Given the description of an element on the screen output the (x, y) to click on. 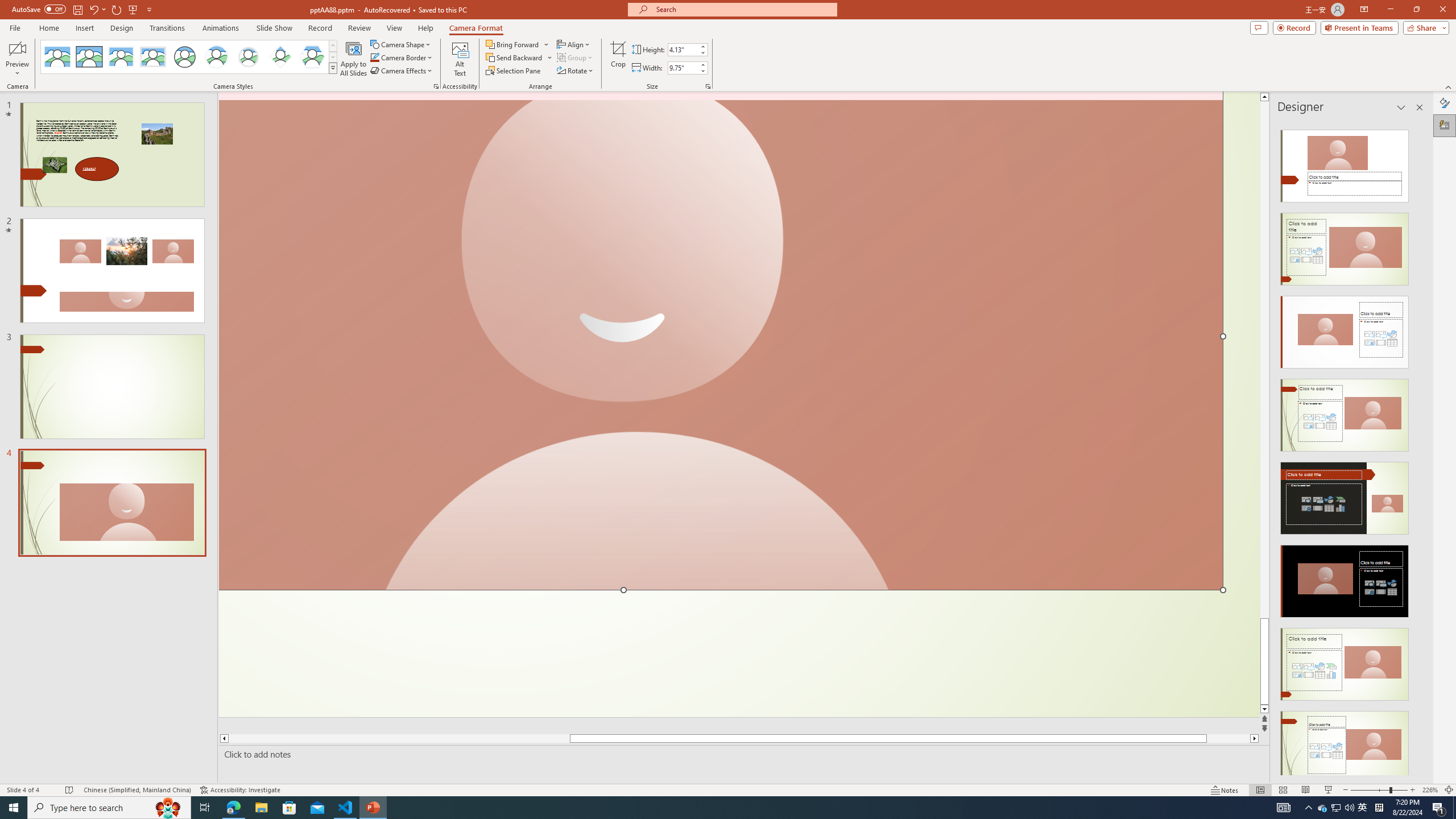
Size and Position... (707, 85)
Rotate (575, 69)
Simple Frame Rectangle (88, 56)
Camera Shape (400, 44)
